Given the description of an element on the screen output the (x, y) to click on. 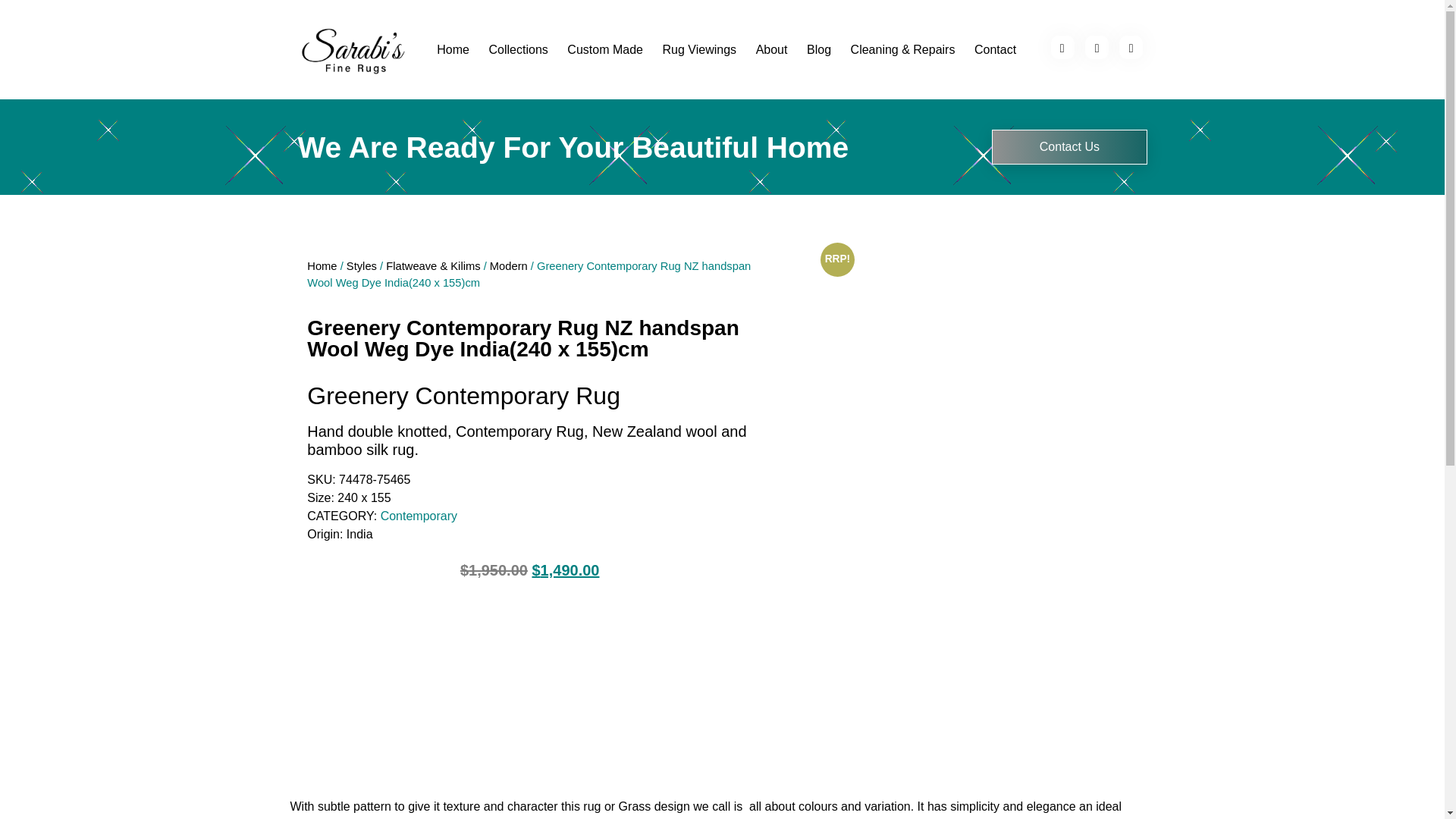
Rug Viewings (698, 49)
Home (453, 49)
Custom Made (604, 49)
About (770, 49)
Contact (994, 49)
Collections (518, 49)
Blog (818, 49)
